Given the description of an element on the screen output the (x, y) to click on. 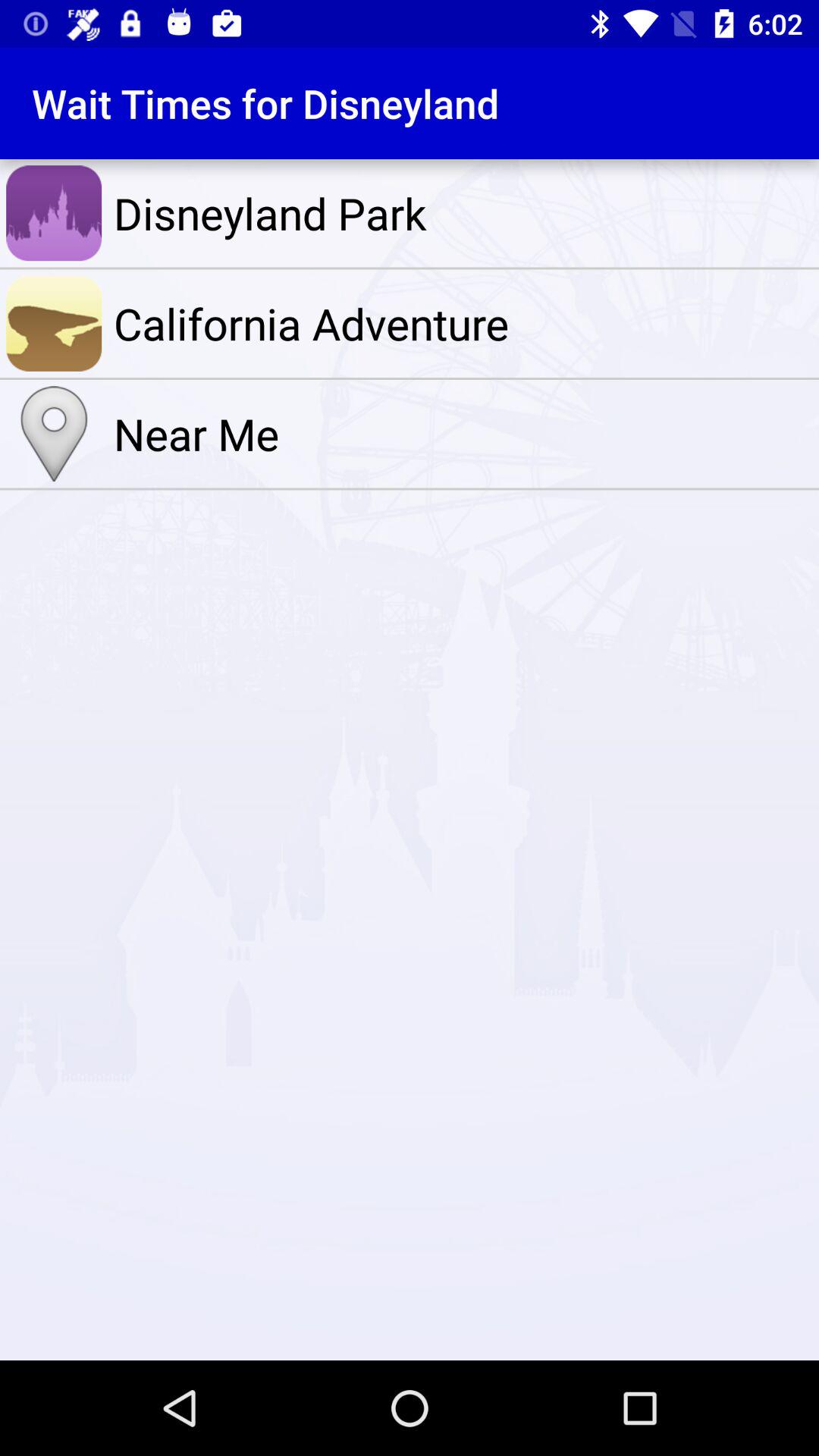
flip until california adventure icon (462, 323)
